Given the description of an element on the screen output the (x, y) to click on. 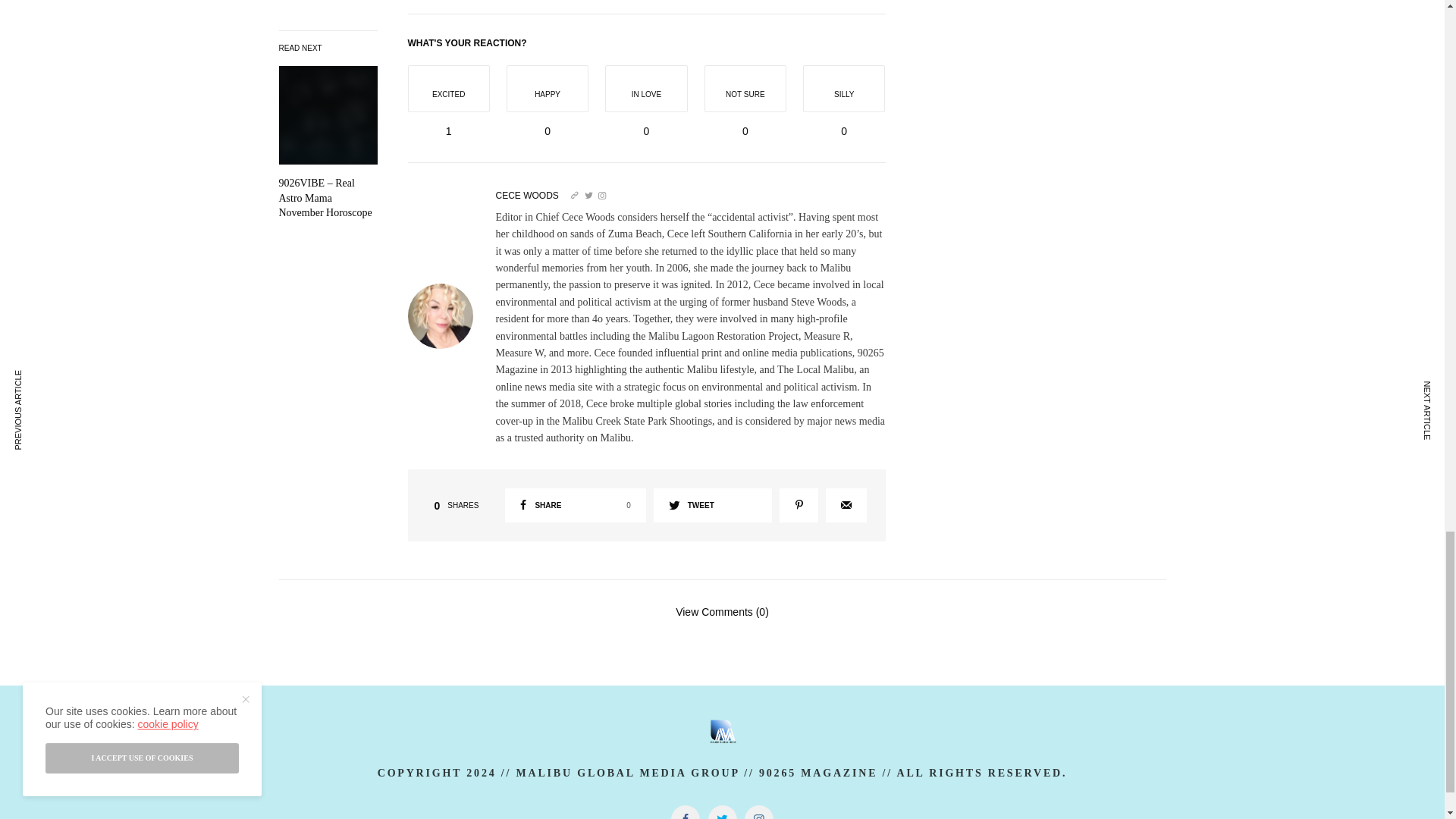
CECE WOODS (527, 194)
Malibu 90265 Magazine (721, 730)
